Given the description of an element on the screen output the (x, y) to click on. 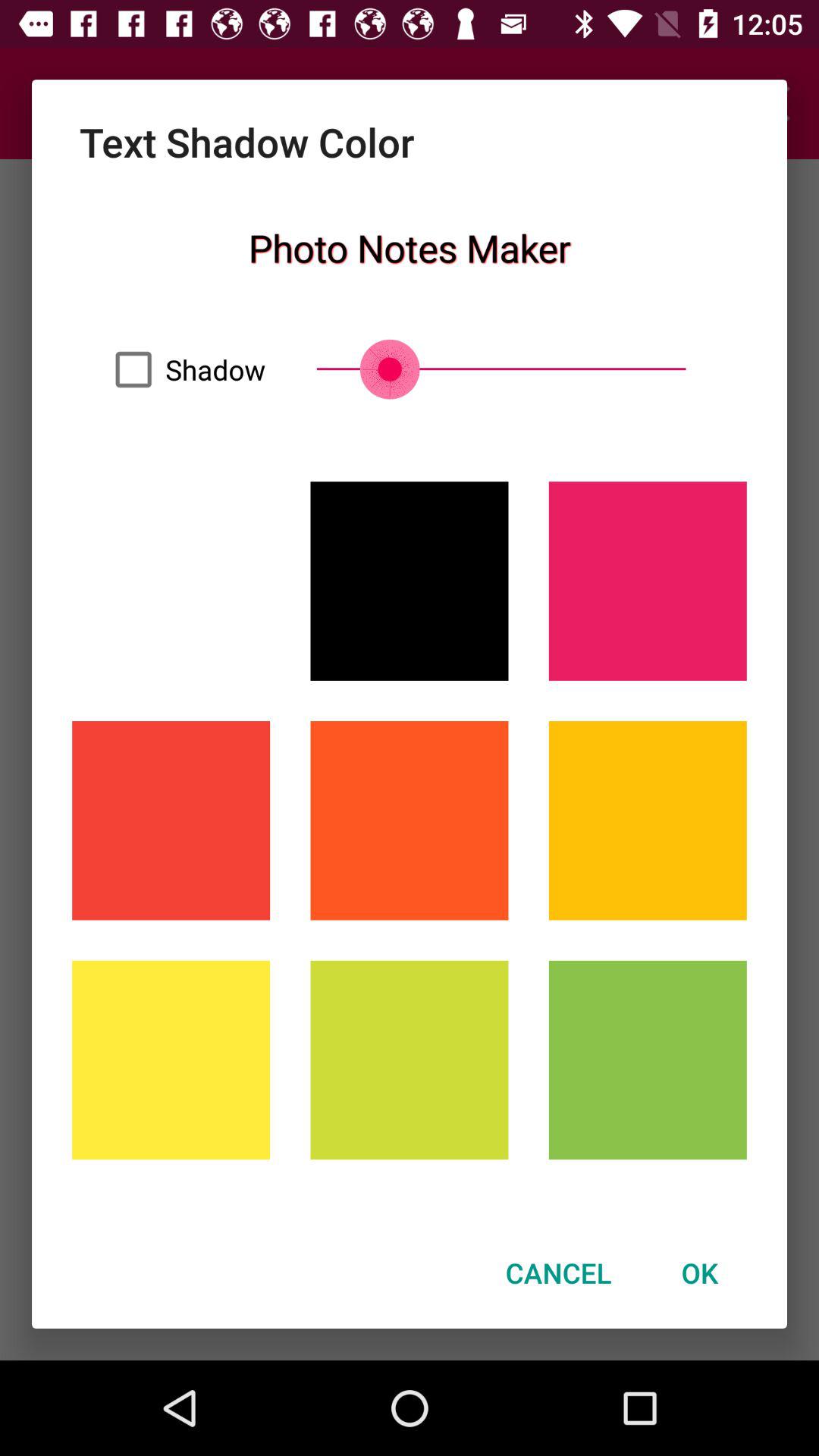
press icon next to ok icon (558, 1272)
